Given the description of an element on the screen output the (x, y) to click on. 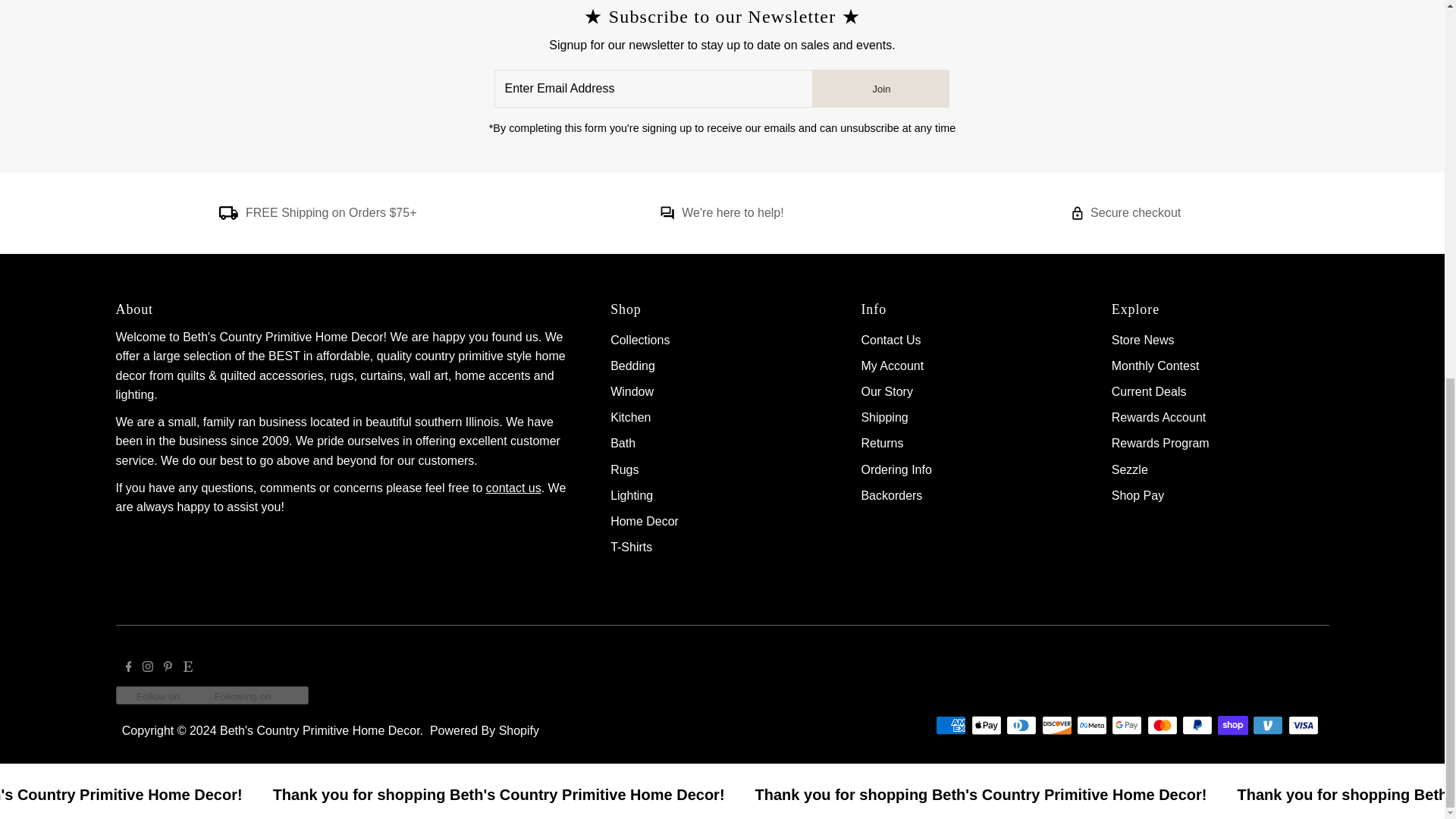
Thank you for shopping Beth's Country Primitive Home Decor! (839, 794)
Thank you for shopping Beth's Country Primitive Home Decor! (53, 794)
Contact Us (513, 487)
Thank you for shopping Beth's Country Primitive Home Decor! (361, 794)
We're here to help! (667, 215)
We're here to help! (732, 212)
